Given the description of an element on the screen output the (x, y) to click on. 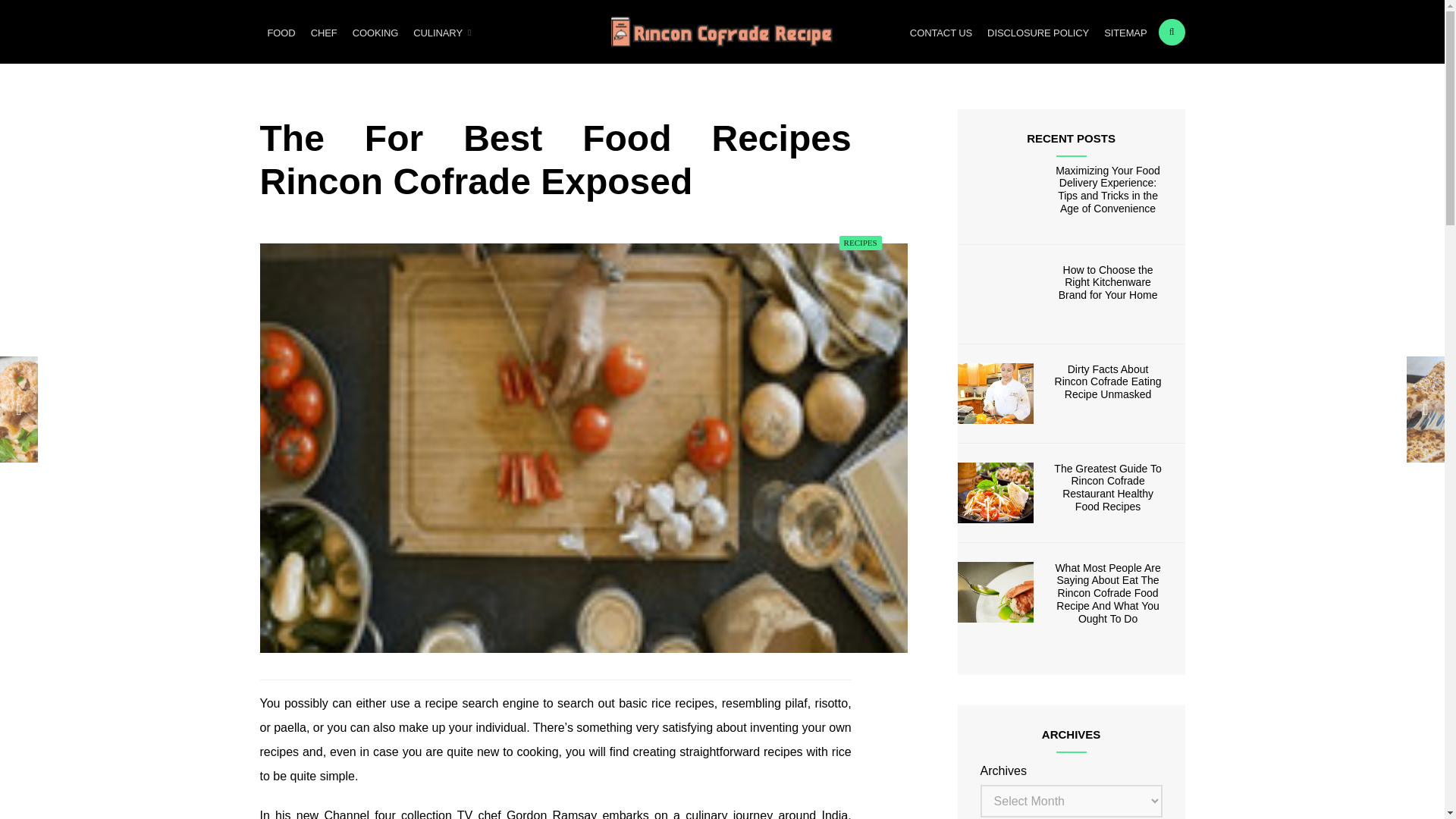
DISCLOSURE POLICY (1037, 32)
CULINARY (441, 32)
SITEMAP (1125, 32)
FOOD (280, 32)
Dirty Facts About Rincon Cofrade Eating Recipe Unmasked (1107, 382)
How to Choose the Right Kitchenware Brand for Your Home (1107, 282)
RECIPES (860, 242)
CONTACT US (940, 32)
